Given the description of an element on the screen output the (x, y) to click on. 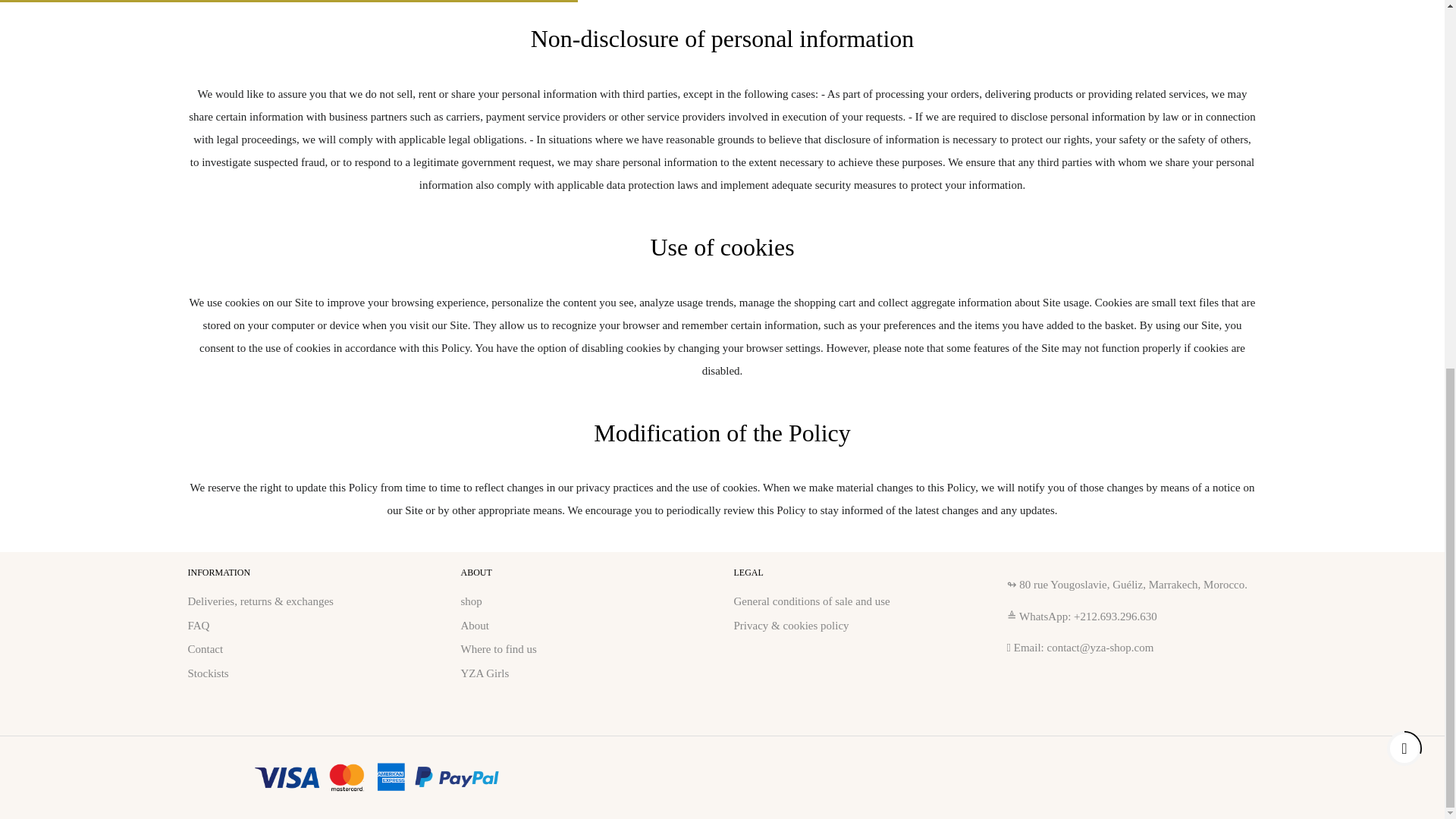
Stockists (207, 673)
Where to find us (499, 648)
YZA Girls (485, 673)
General conditions of sale and use (811, 601)
About (475, 625)
shop (471, 601)
Contact (205, 648)
FAQ (198, 625)
